Given the description of an element on the screen output the (x, y) to click on. 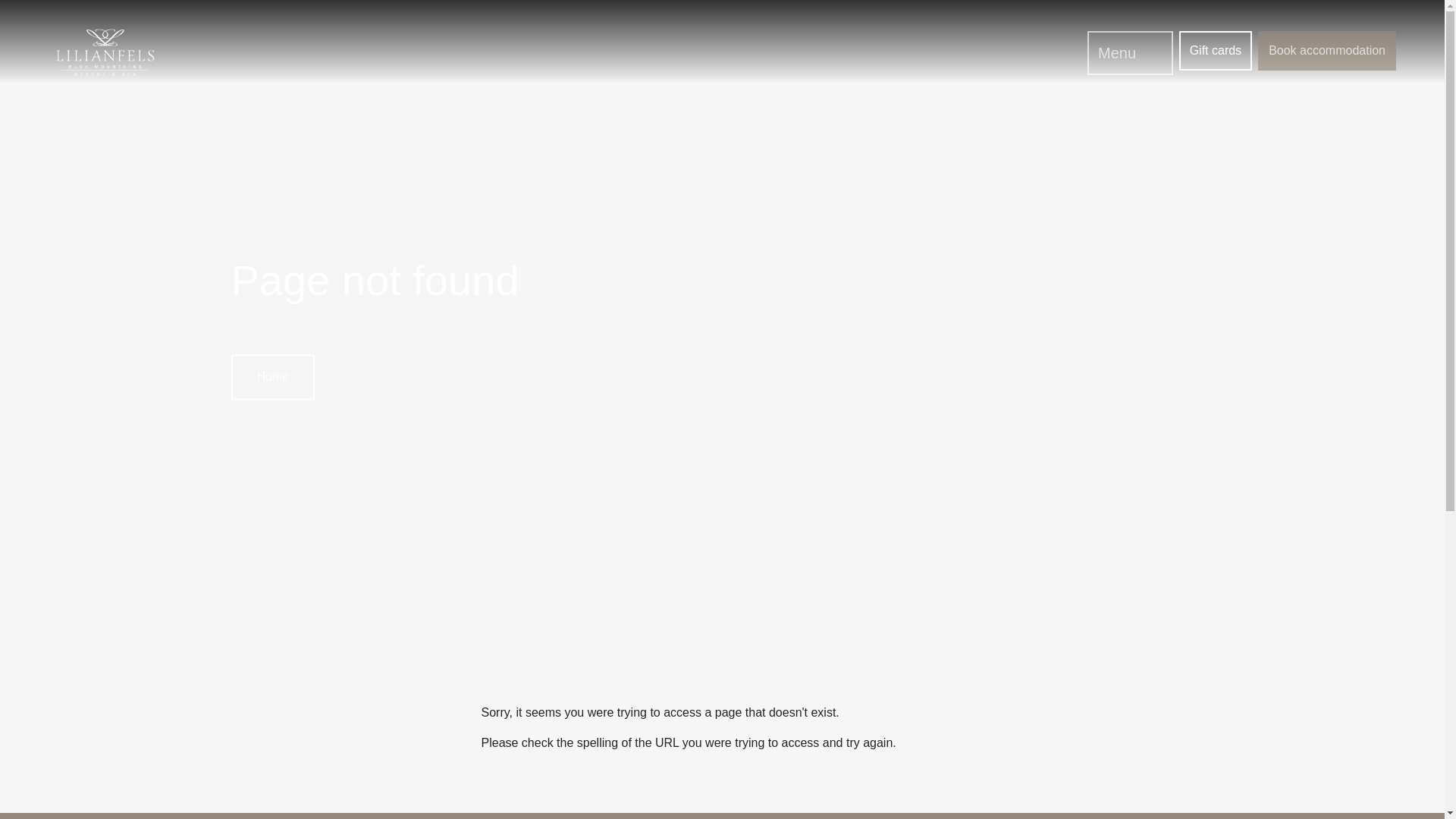
Gift cards (1215, 50)
Home (272, 377)
Menu (1130, 53)
Book accommodation (1326, 50)
